Given the description of an element on the screen output the (x, y) to click on. 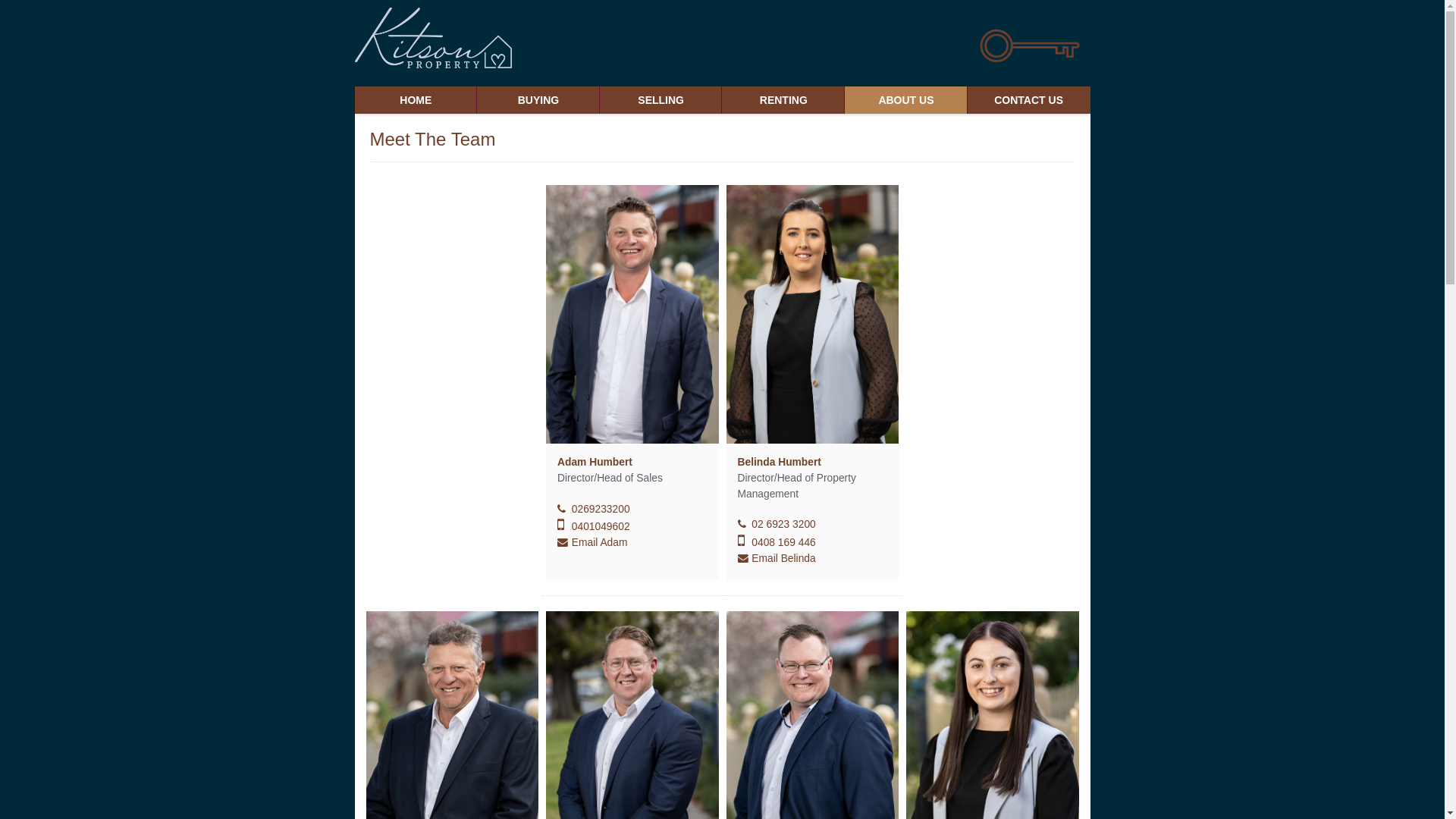
Belinda Humbert Element type: text (778, 461)
View Adam Humbert's Profile Element type: hover (632, 314)
02 6923 3200  Element type: text (777, 524)
SELLING Element type: text (660, 99)
View Belinda Humbert's Profile Element type: hover (812, 314)
Email Adam Element type: text (592, 542)
0269233200  Element type: text (594, 508)
0408 169 446  Element type: text (777, 542)
CONTACT US Element type: text (1028, 99)
BUYING Element type: text (537, 99)
0401049602  Element type: text (594, 526)
Adam Humbert Element type: text (594, 461)
Email Belinda Element type: text (776, 558)
RENTING Element type: text (782, 99)
Kitson Property - Real Estate Element type: hover (433, 37)
ABOUT US Element type: text (905, 99)
HOME Element type: text (415, 99)
